Given the description of an element on the screen output the (x, y) to click on. 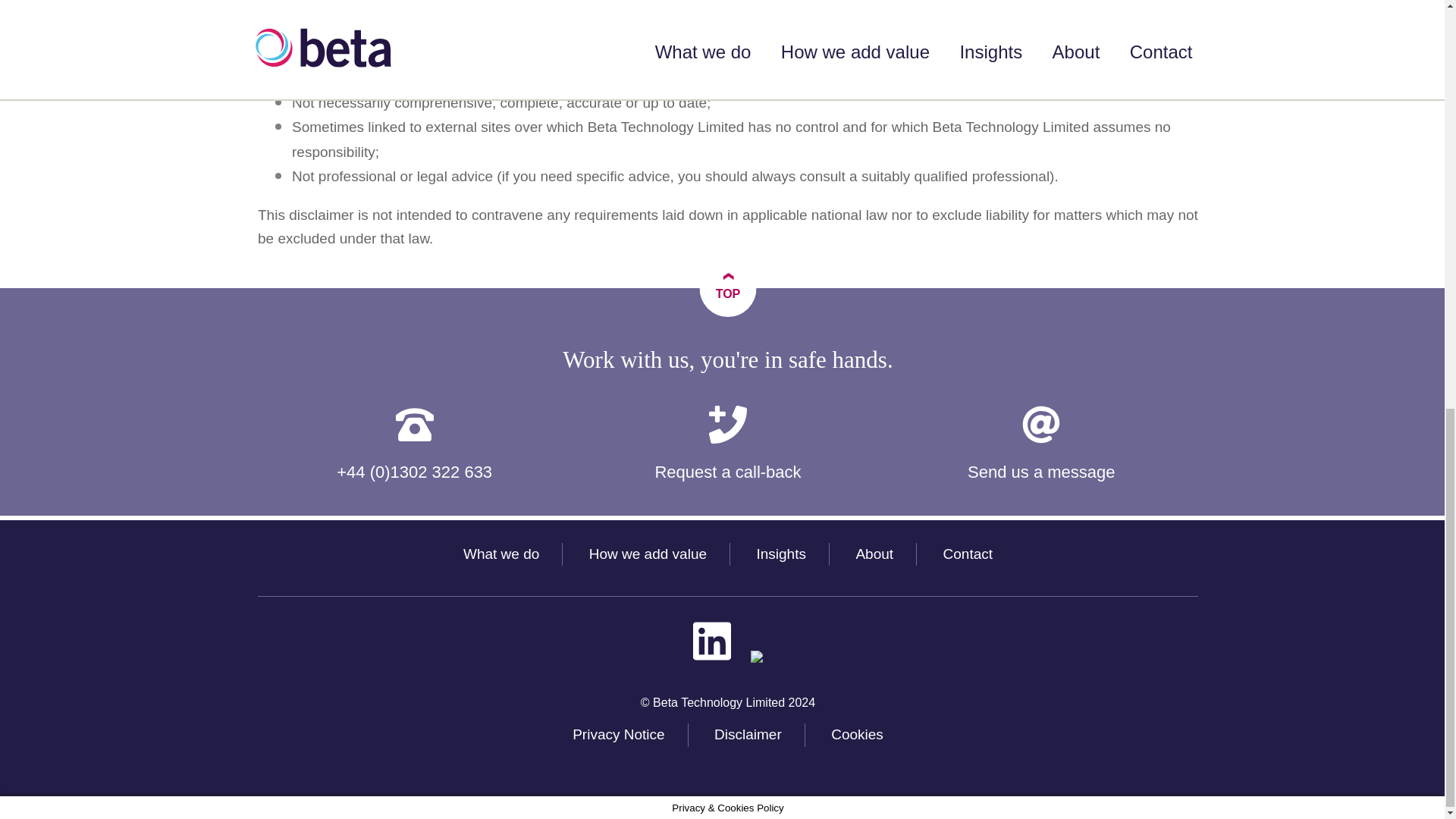
Privacy Notice (617, 734)
Contact (967, 553)
What we do (500, 553)
About (874, 553)
Request a call-back (727, 445)
Send us a message (1041, 445)
Cookies (857, 734)
Disclaimer (747, 734)
Insights (780, 553)
How we add value (647, 553)
